Given the description of an element on the screen output the (x, y) to click on. 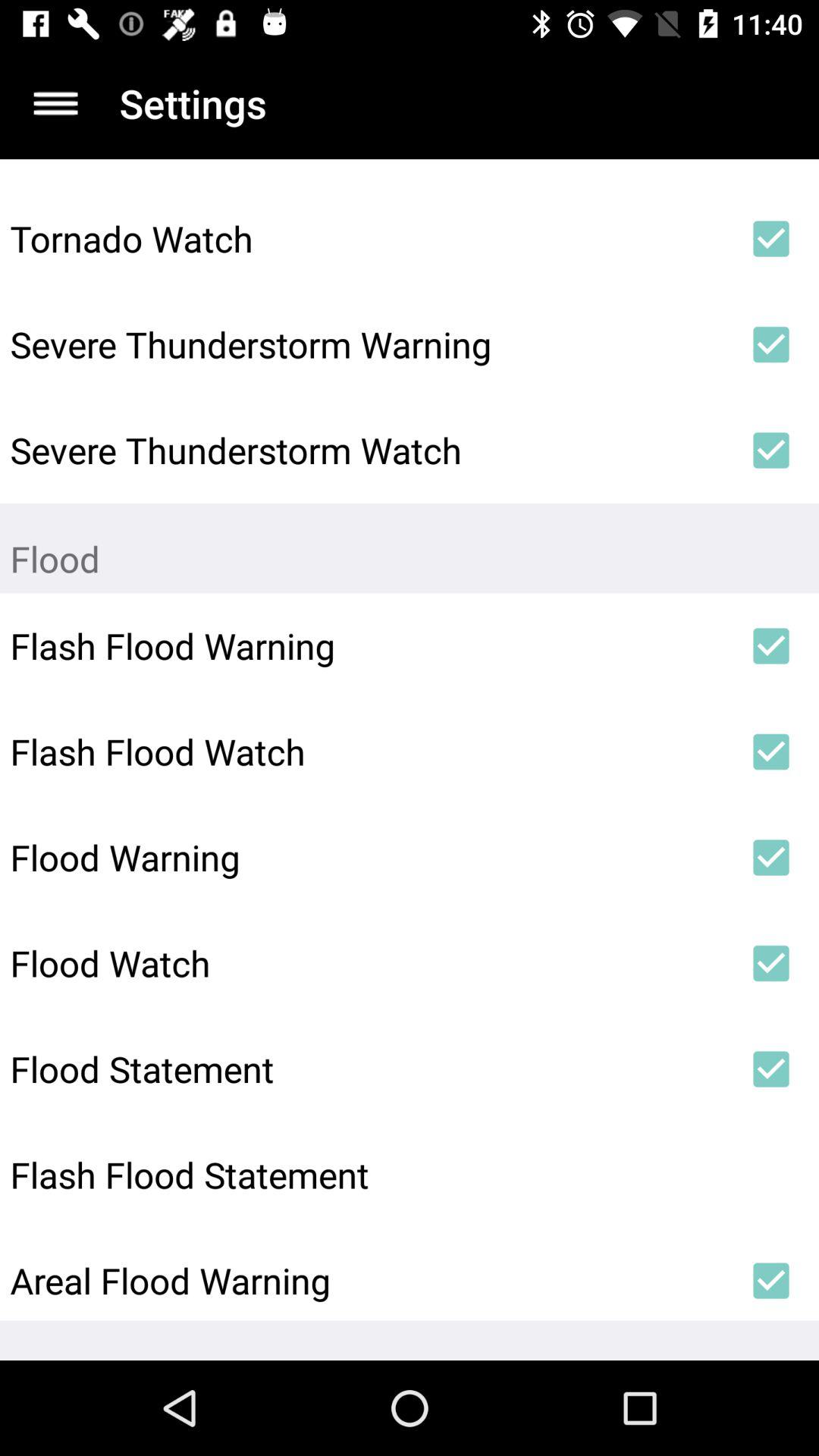
launch the icon next to severe thunderstorm watch icon (771, 450)
